Given the description of an element on the screen output the (x, y) to click on. 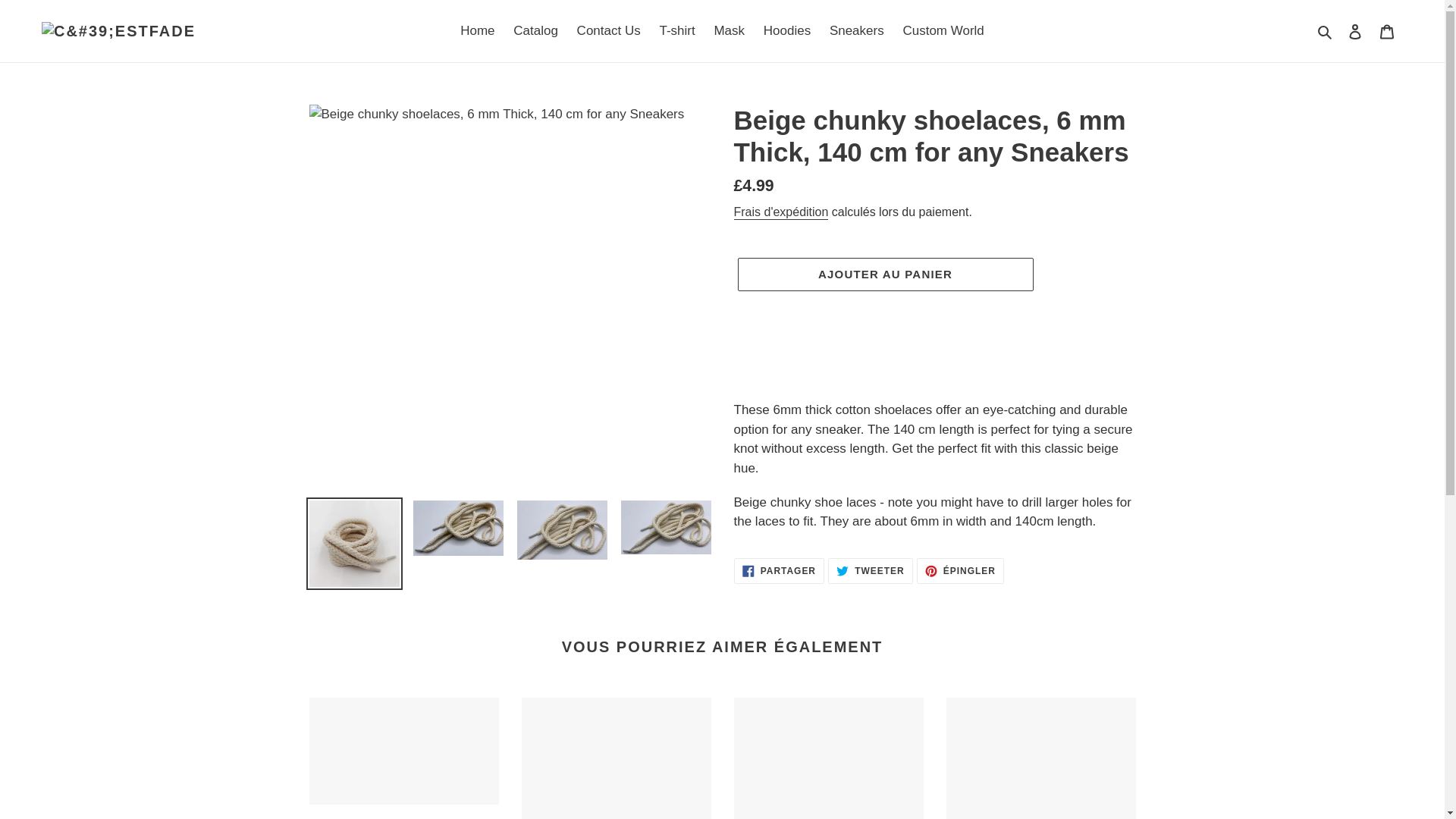
Se connecter (1355, 30)
Brown chunky shoelaces, 8 mm Thick, 140 cm for any Sneakers (870, 570)
Contact Us (616, 758)
Catalog (608, 30)
Custom World (778, 570)
AJOUTER AU PANIER (535, 30)
Rechercher (943, 30)
Home (884, 274)
Hoodies (1326, 30)
Panier (477, 30)
Sneakers (786, 30)
Mask (1387, 30)
